Given the description of an element on the screen output the (x, y) to click on. 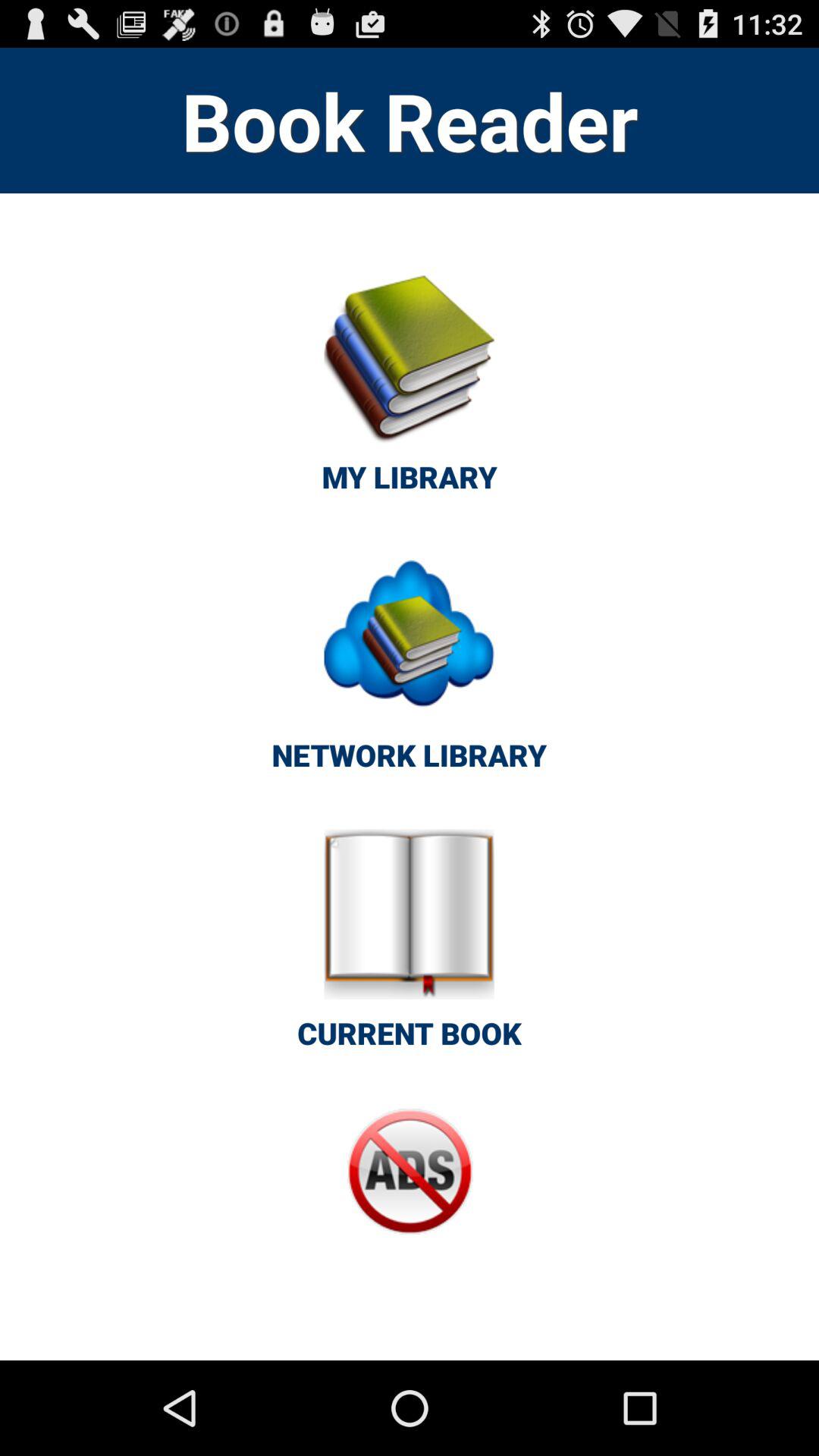
launch button at the bottom (409, 1203)
